Given the description of an element on the screen output the (x, y) to click on. 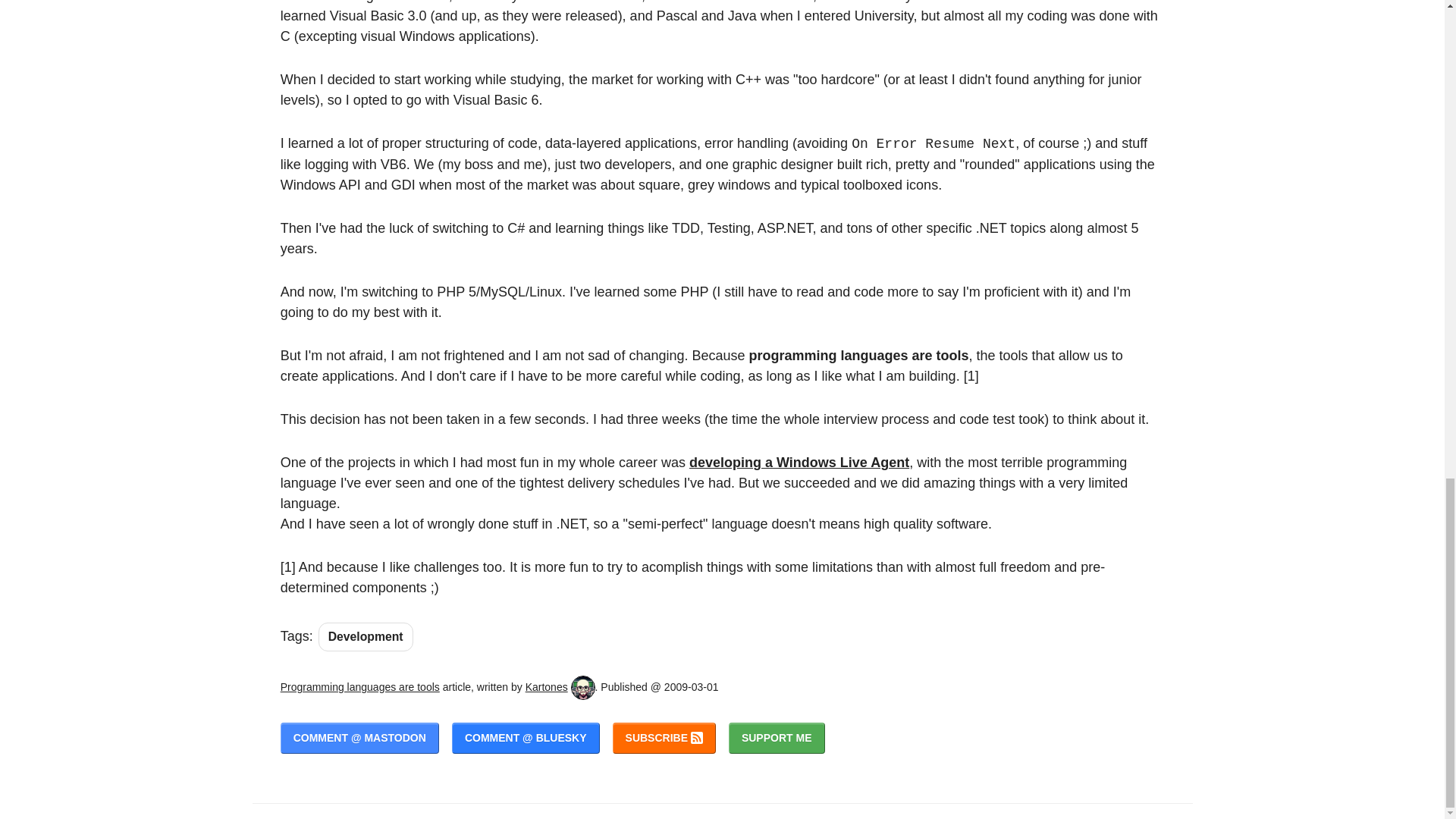
Kartones (546, 686)
Support me (777, 737)
Development (365, 636)
SUPPORT ME (777, 737)
Subscribe to RSS (664, 737)
developing a Windows Live Agent (798, 462)
Programming languages are tools (360, 686)
SUBSCRIBE (664, 737)
